Given the description of an element on the screen output the (x, y) to click on. 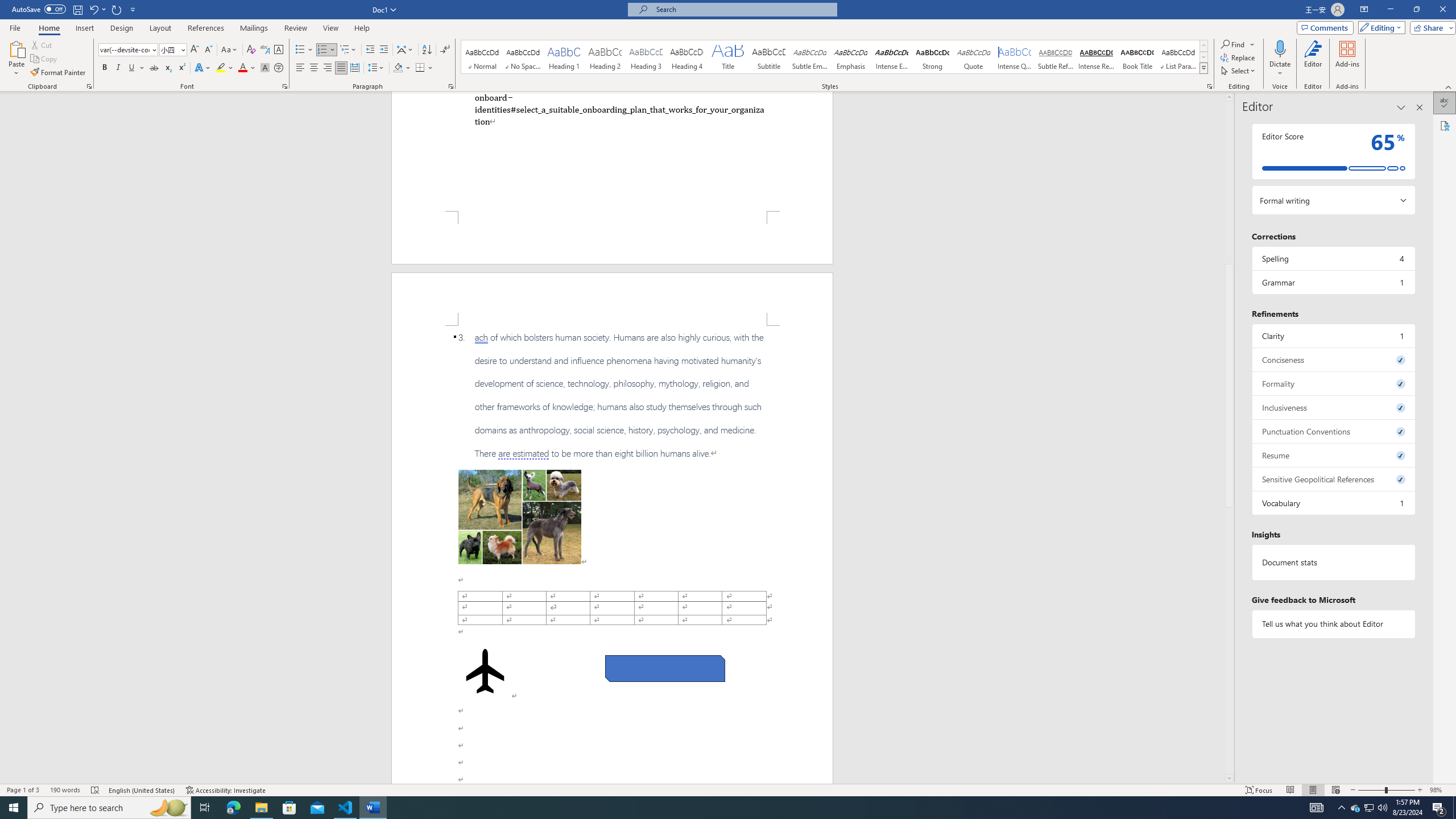
Copy (45, 58)
Resume, 0 issues. Press space or enter to review items. (1333, 454)
Increase Indent (383, 49)
Text Effects and Typography (202, 67)
Shrink Font (208, 49)
Accessibility Checker Accessibility: Investigate (226, 790)
Clear Formatting (250, 49)
Class: MsoCommandBar (728, 789)
Quote (973, 56)
Rectangle: Diagonal Corners Snipped 2 (665, 668)
Spelling, 4 issues. Press space or enter to review items. (1333, 258)
Editing (1379, 27)
Intense Quote (1014, 56)
